Given the description of an element on the screen output the (x, y) to click on. 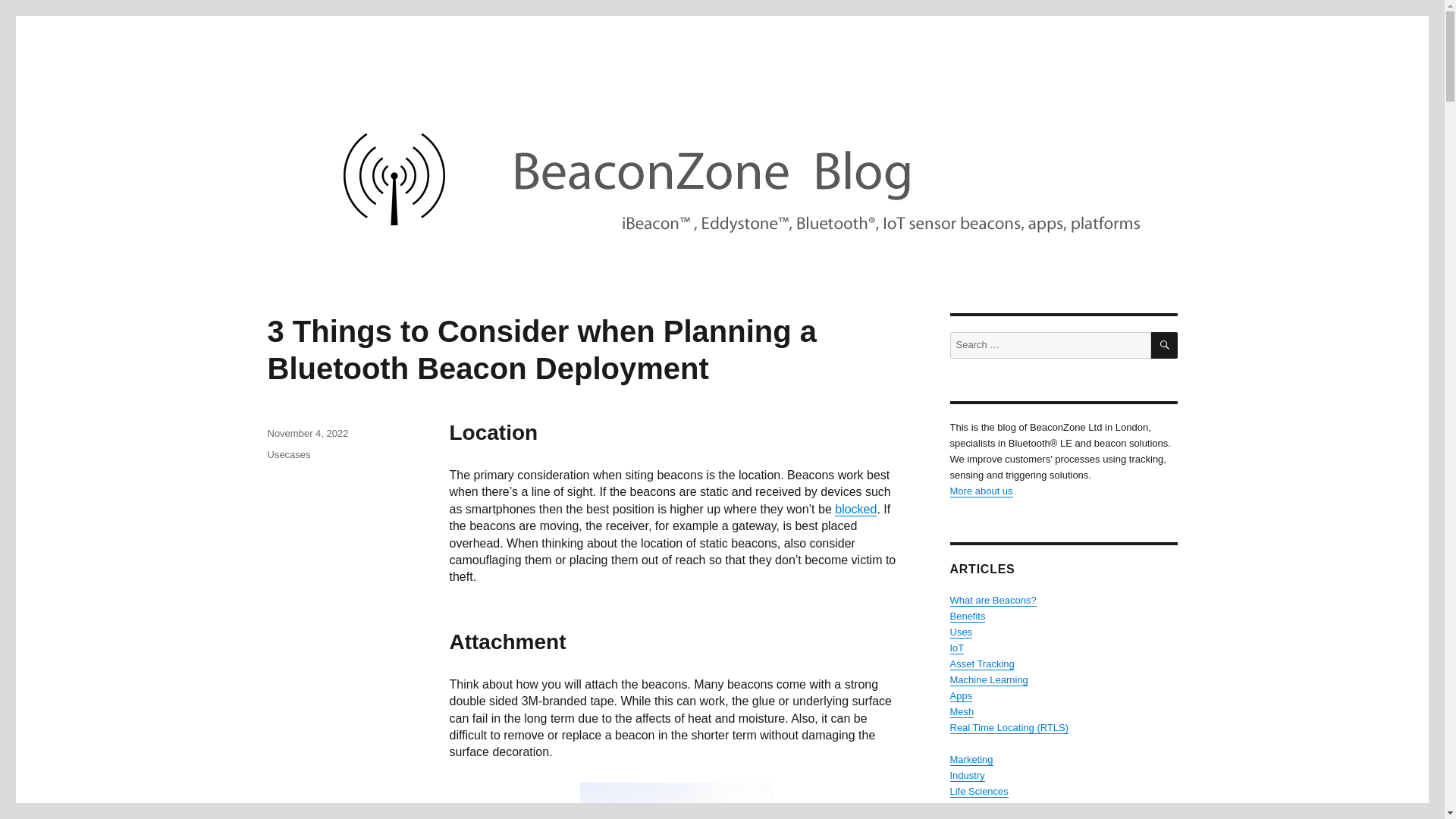
November 4, 2022 (306, 432)
Life Sciences (978, 790)
Mesh (961, 711)
blocked (855, 508)
Usecases (288, 454)
Apps (960, 695)
Benefits (967, 615)
Asset Tracking (981, 663)
Marketing (970, 758)
What are Beacons? (992, 600)
IoT (956, 647)
Uses (960, 632)
Machine Learning (988, 679)
Search for: (1049, 345)
Industry (966, 775)
